Given the description of an element on the screen output the (x, y) to click on. 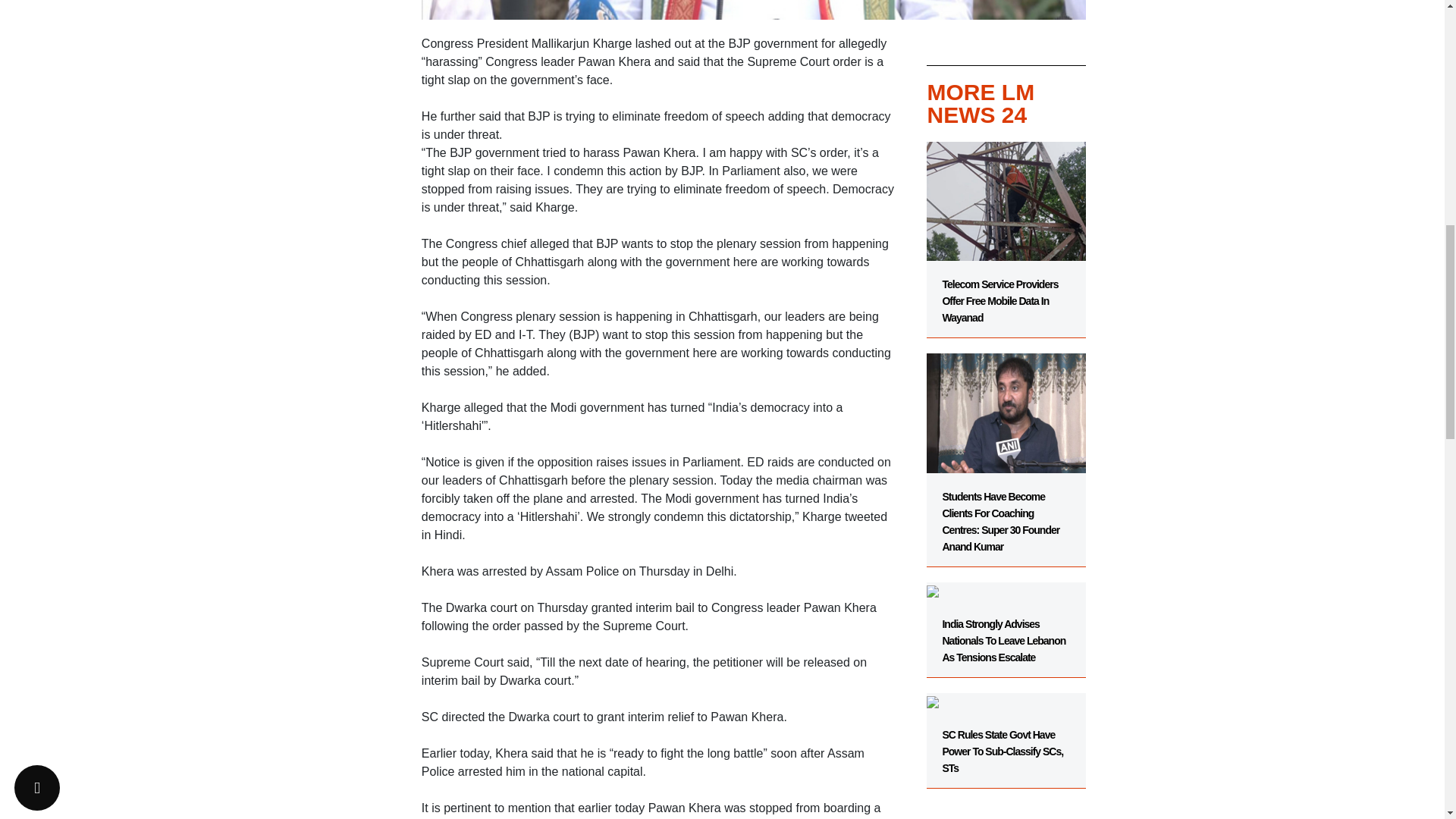
SC Rules State Govt Have Power To Sub-Classify SCs, STs (1006, 733)
